Given the description of an element on the screen output the (x, y) to click on. 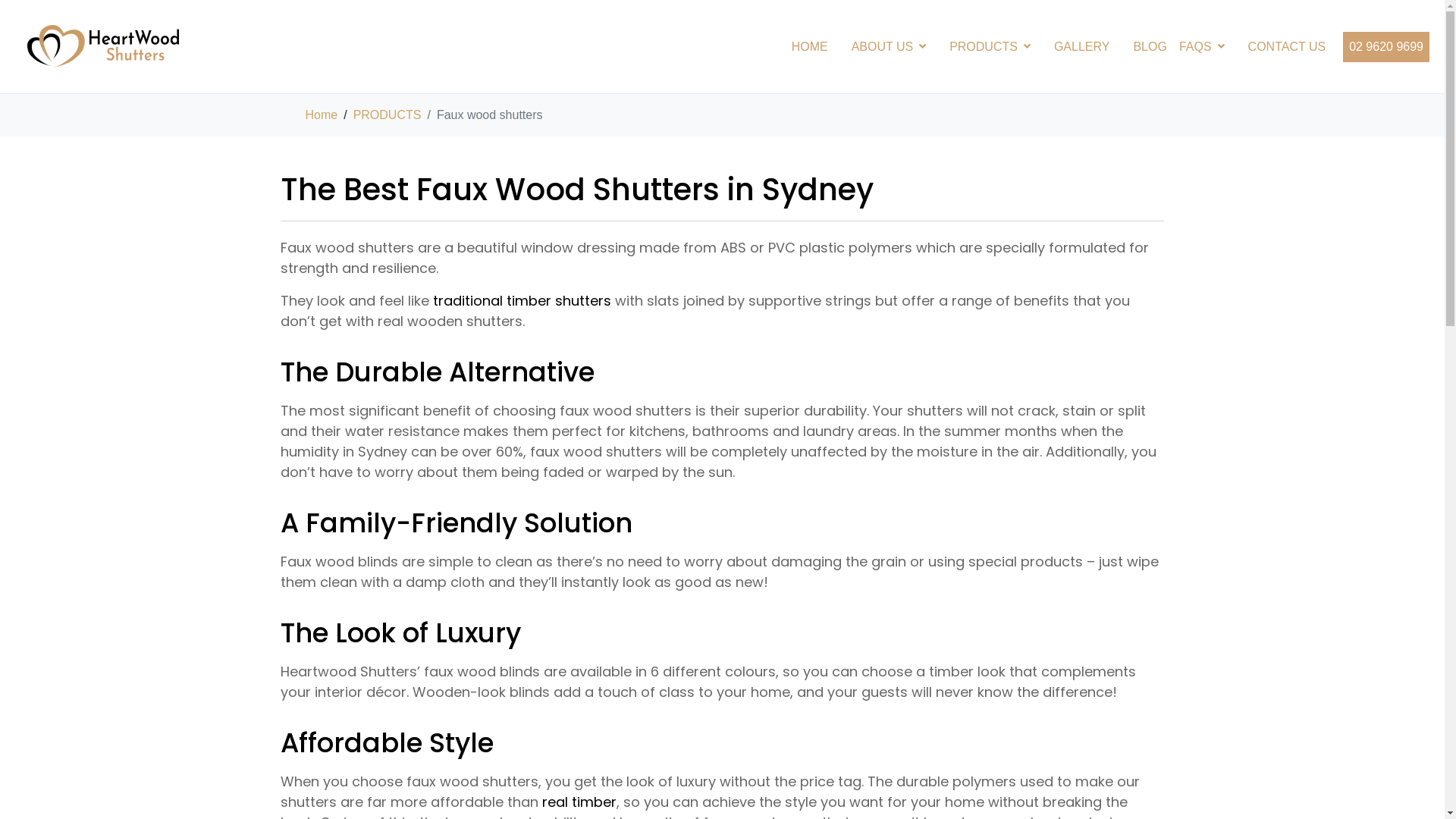
HOME Element type: text (809, 46)
CONTACT US Element type: text (1287, 46)
traditional timber shutters Element type: text (522, 300)
02 9620 9699 Element type: text (1386, 46)
GALLERY Element type: text (1082, 46)
PRODUCTS Element type: text (989, 46)
Home Element type: text (320, 114)
ABOUT US Element type: text (888, 46)
BLOG Element type: text (1149, 46)
real timber Element type: text (579, 801)
FAQS Element type: text (1201, 46)
PRODUCTS Element type: text (387, 114)
